Given the description of an element on the screen output the (x, y) to click on. 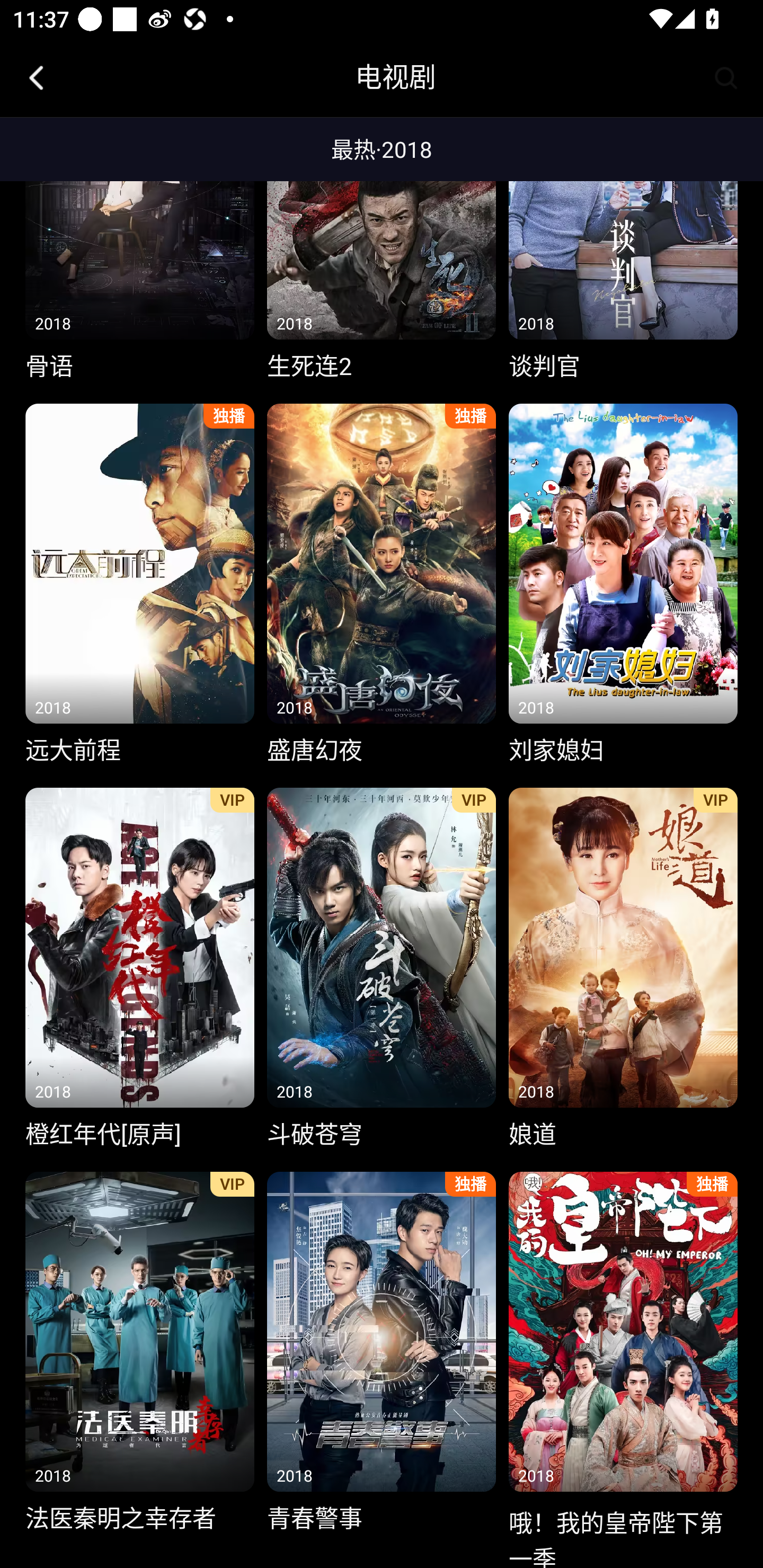
电视剧 (394, 77)
骨语 (139, 255)
生死连2 (381, 255)
谈判官 (622, 255)
远大前程 (139, 585)
盛唐幻夜 (381, 585)
刘家媳妇 (622, 585)
橙红年代[原声] (139, 969)
斗破苍穹 (381, 969)
娘道 (622, 969)
法医秦明之幸存者 (139, 1353)
青春警事 (381, 1353)
哦！我的皇帝陛下第一季 (622, 1364)
